Given the description of an element on the screen output the (x, y) to click on. 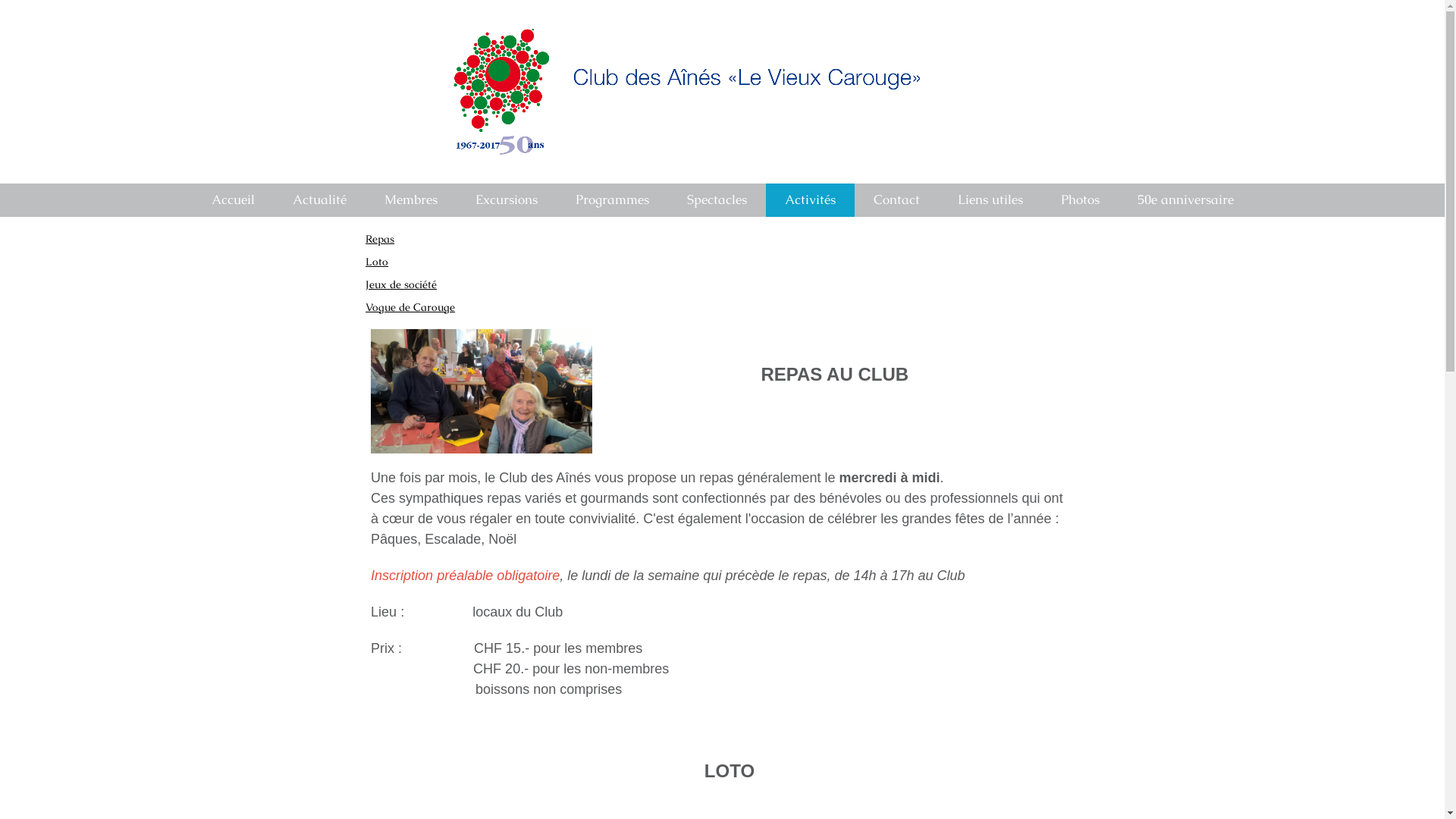
Membres Element type: text (410, 199)
50e anniversaire Element type: text (1184, 199)
Vogue de Carouge Element type: text (410, 306)
Liens utiles Element type: text (989, 199)
Programmes Element type: text (612, 199)
Spectacles Element type: text (716, 199)
Excursions Element type: text (506, 199)
Photos Element type: text (1079, 199)
Accueil Element type: text (232, 199)
Repas Element type: text (379, 238)
Contact Element type: text (895, 199)
Loto Element type: text (376, 261)
